Given the description of an element on the screen output the (x, y) to click on. 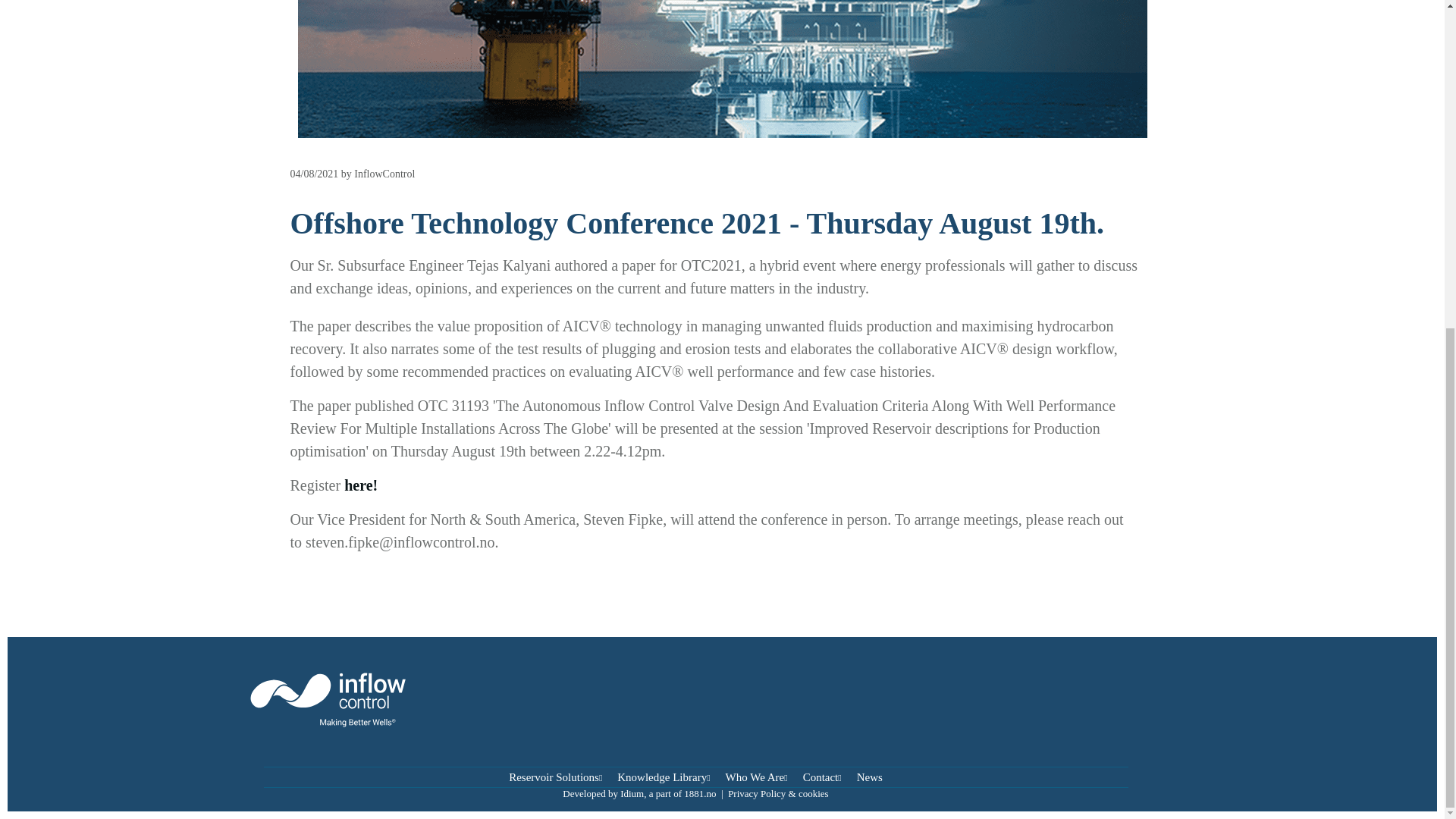
Reservoir Solutions (555, 777)
Go to main page (363, 699)
Knowledge Library (663, 777)
here! (360, 484)
